Given the description of an element on the screen output the (x, y) to click on. 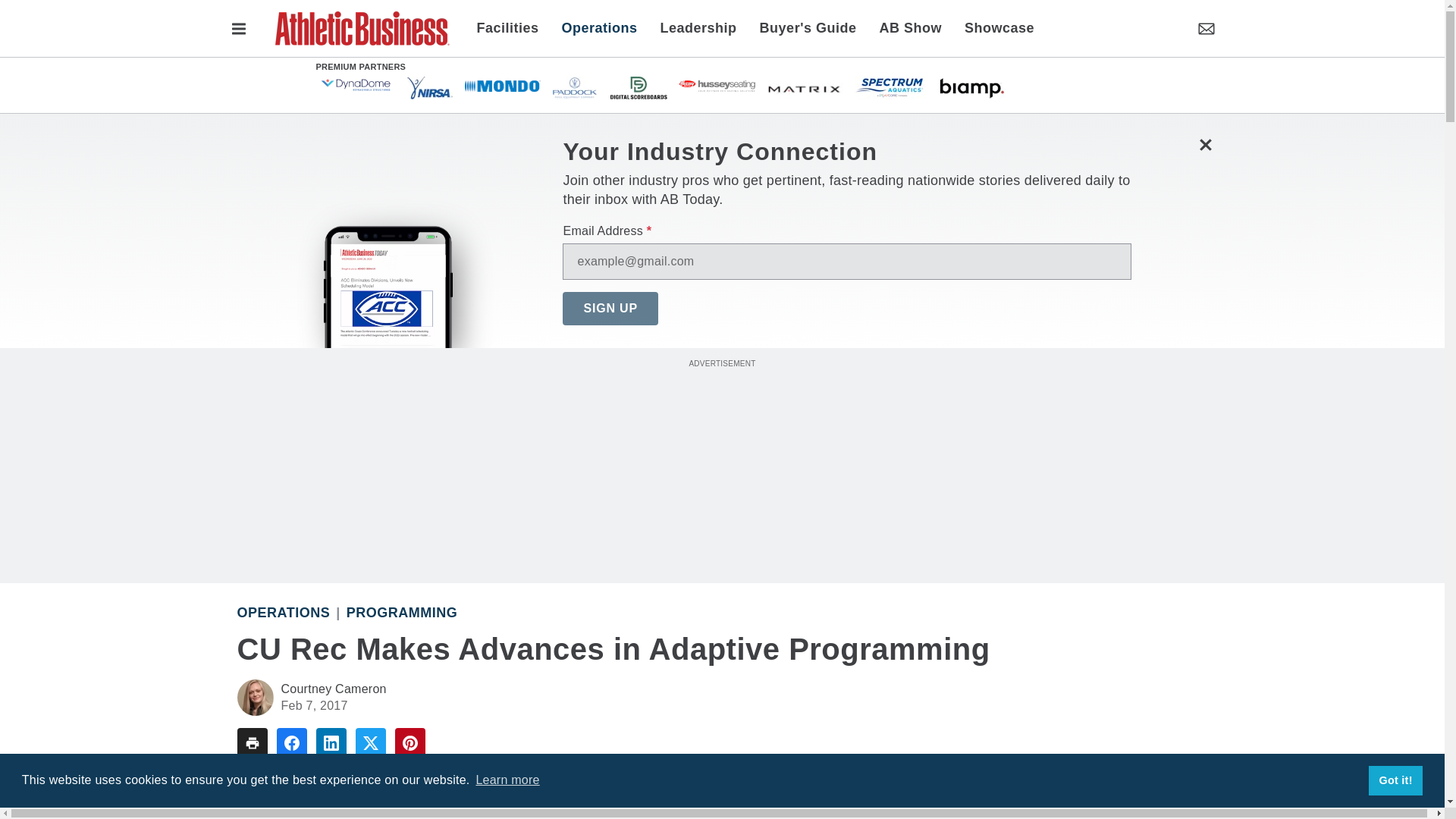
Buyer's Guide (807, 27)
Learn more (507, 780)
Matrix Fitness (805, 87)
Facilities (513, 27)
AB Show (910, 27)
NIRSA (428, 87)
Operations (599, 27)
Mondo (502, 85)
DynaDome Retractable Enclosures (356, 85)
Biamp Systems (970, 87)
Digital Scoreboards (638, 87)
Hussey Seating Company (717, 85)
Paddock Pool Equipment (573, 87)
Spectrum Aquatics (891, 87)
Showcase (993, 27)
